Given the description of an element on the screen output the (x, y) to click on. 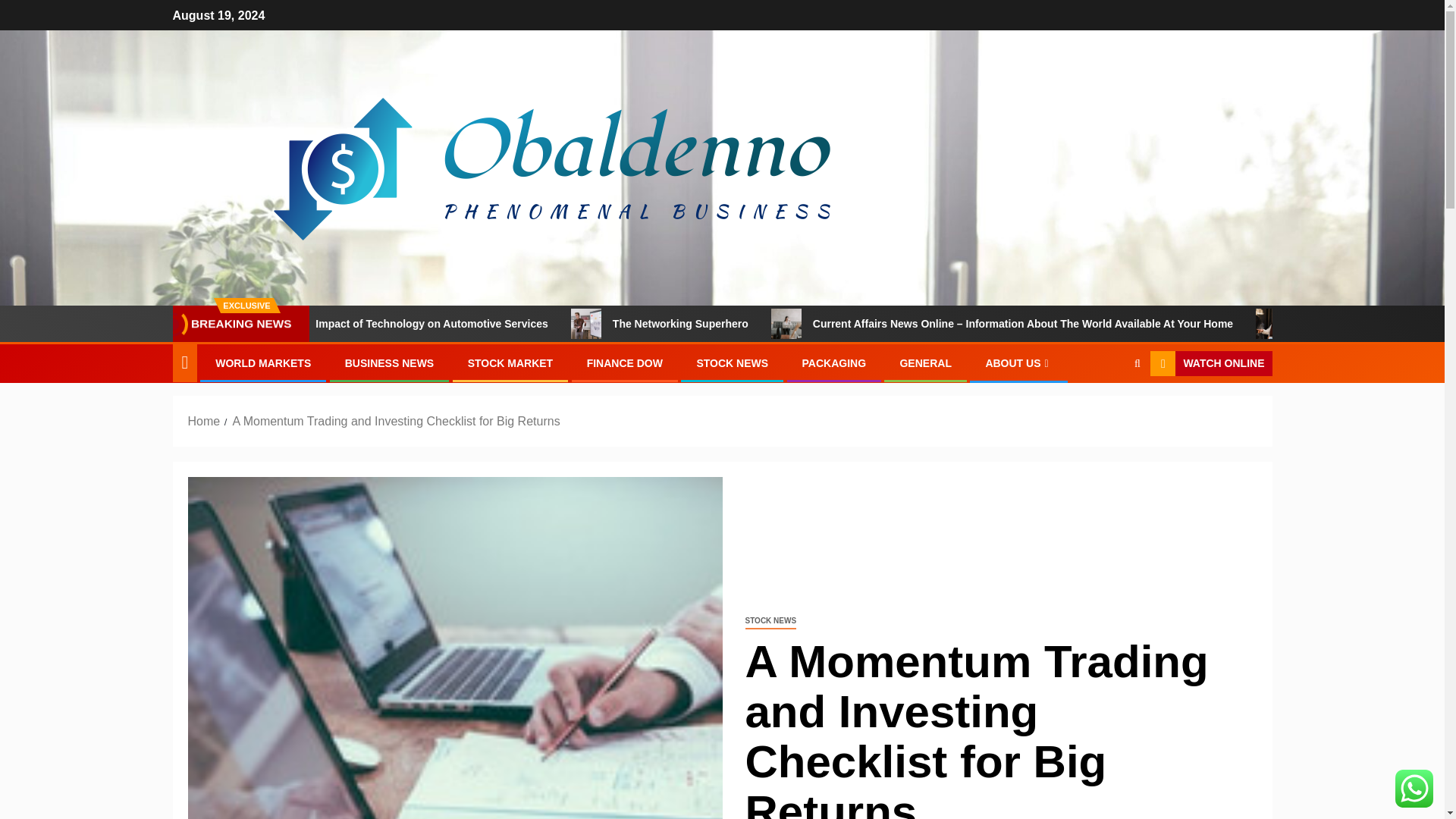
Search (1107, 410)
FINANCE DOW (624, 363)
WATCH ONLINE (1210, 363)
GENERAL (924, 363)
PACKAGING (834, 363)
WORLD MARKETS (263, 363)
BUSINESS NEWS (389, 363)
Home (204, 420)
STOCK NEWS (770, 621)
The Networking Superhero (661, 323)
